Given the description of an element on the screen output the (x, y) to click on. 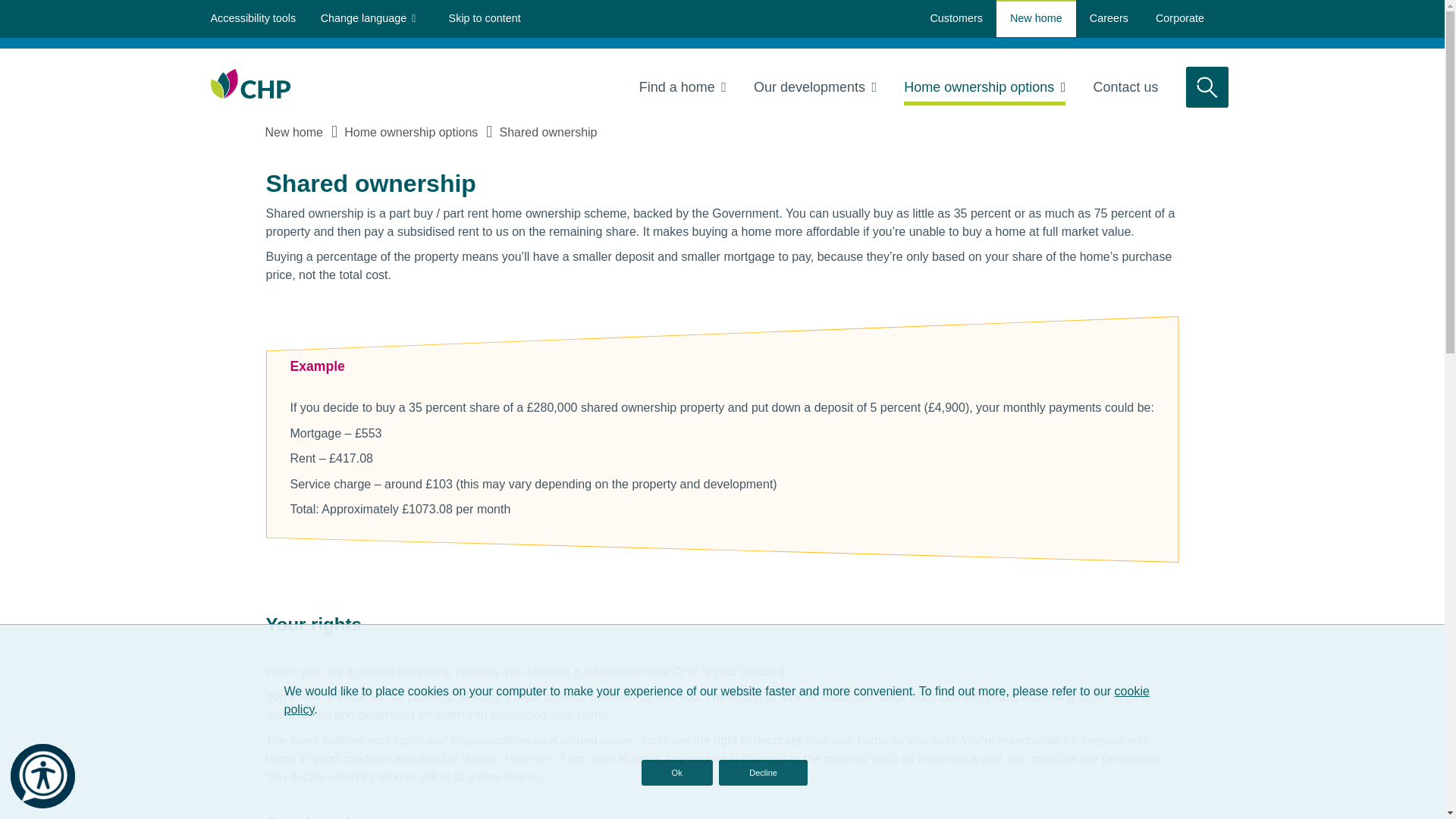
Accessibility tools (253, 18)
Corporate (1179, 18)
Customers (955, 18)
Change language (368, 18)
Skip to content (484, 18)
Launch Recite Me (42, 775)
New home (1035, 18)
Ok (677, 772)
Launch Recite Me (42, 775)
Decline (763, 772)
Careers (1108, 18)
